Given the description of an element on the screen output the (x, y) to click on. 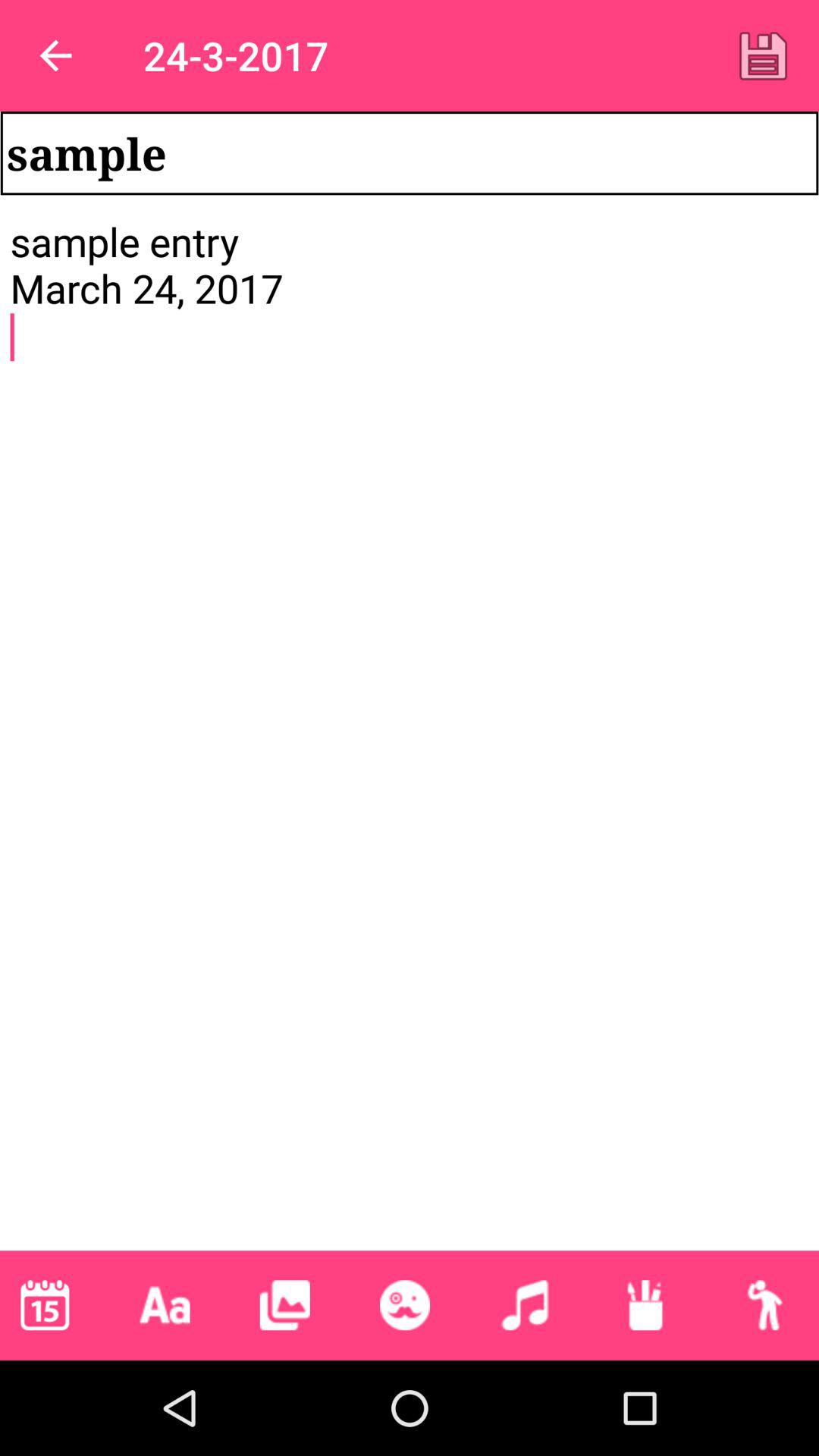
change date (44, 1305)
